Given the description of an element on the screen output the (x, y) to click on. 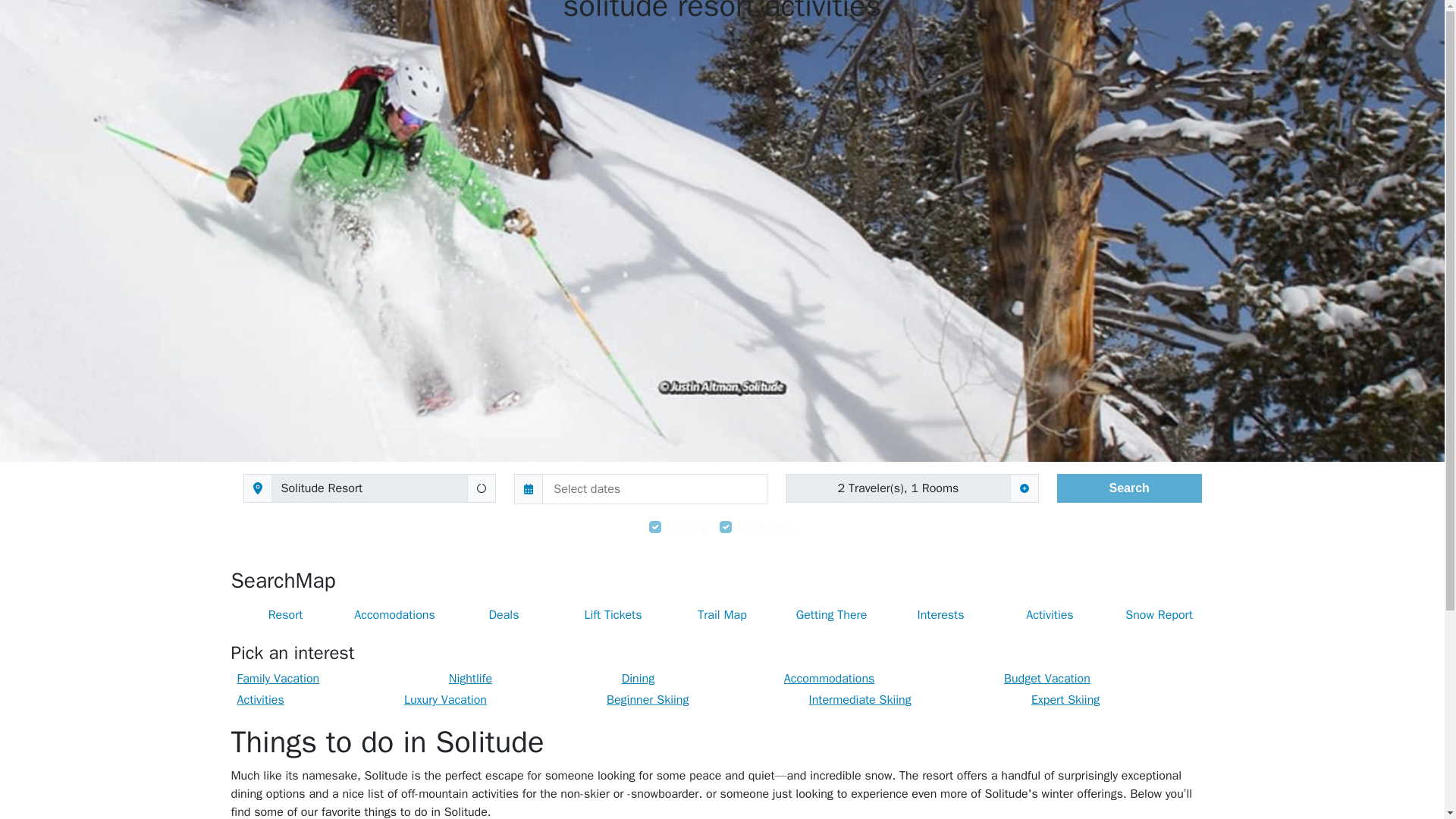
Free Quote (1207, 21)
Expert Skiing (1065, 699)
Snow Report (1157, 614)
Dining (638, 678)
Intermediate Skiing (860, 699)
Trail Map (721, 614)
Search (262, 580)
on (725, 526)
Lift Tickets (611, 614)
Getting There (830, 614)
